Given the description of an element on the screen output the (x, y) to click on. 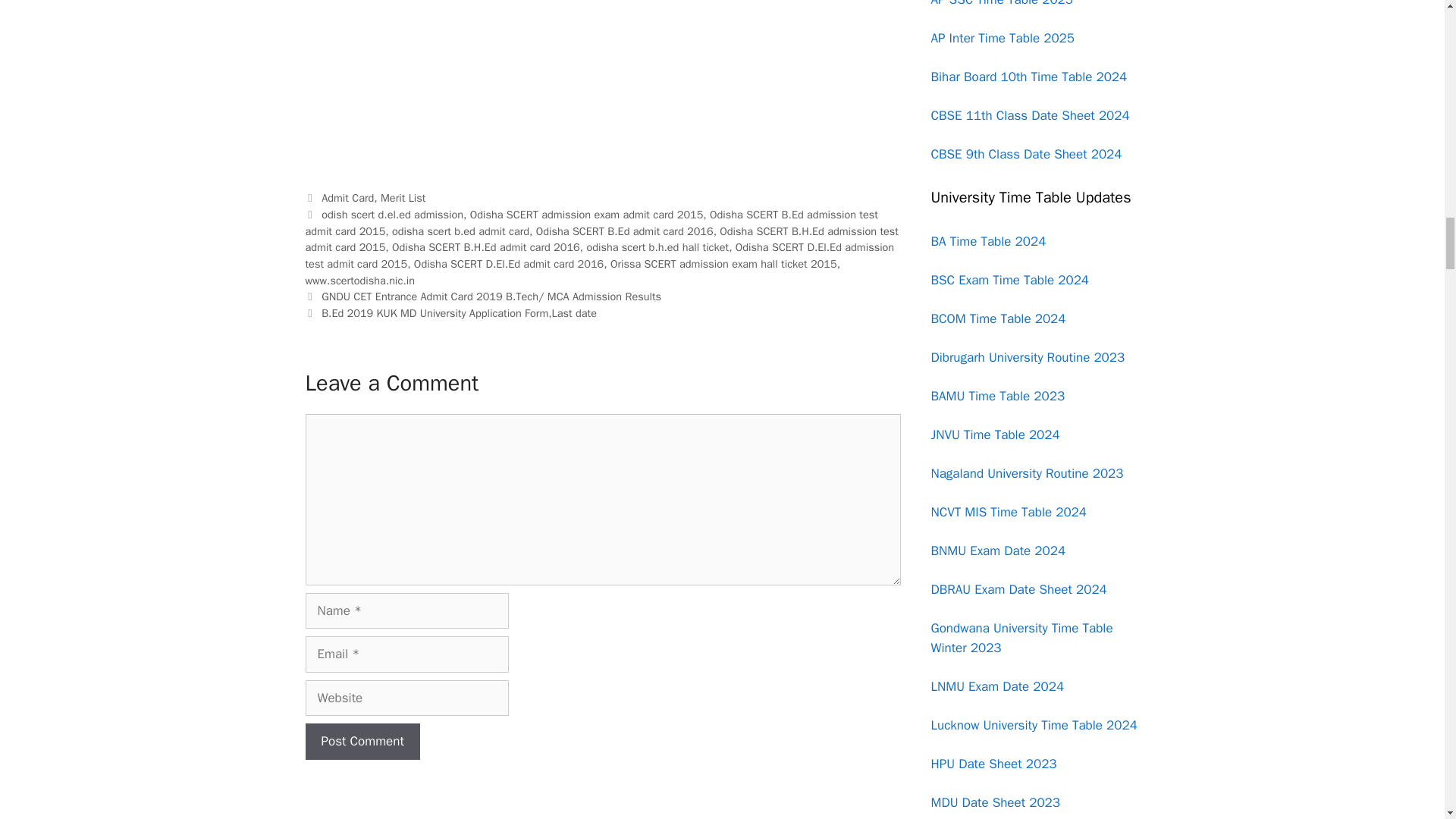
Odisha SCERT D.El.Ed admit card 2016 (508, 264)
Odisha SCERT B.H.Ed admission test admit card 2015 (601, 239)
Orissa SCERT admission exam hall ticket 2015 (723, 264)
odisha scert b.ed admit card (460, 231)
Admit Card (347, 197)
www.scertodisha.nic.in (358, 280)
odisha scert b.h.ed hall ticket (657, 246)
Post Comment (361, 741)
odish scert d.el.ed admission (392, 214)
Merit List (402, 197)
Odisha SCERT admission exam admit card 2015 (586, 214)
Odisha SCERT B.Ed admit card 2016 (624, 231)
Post Comment (361, 741)
Odisha SCERT B.Ed admission test admit card 2015 (590, 223)
Advertisement (601, 84)
